Given the description of an element on the screen output the (x, y) to click on. 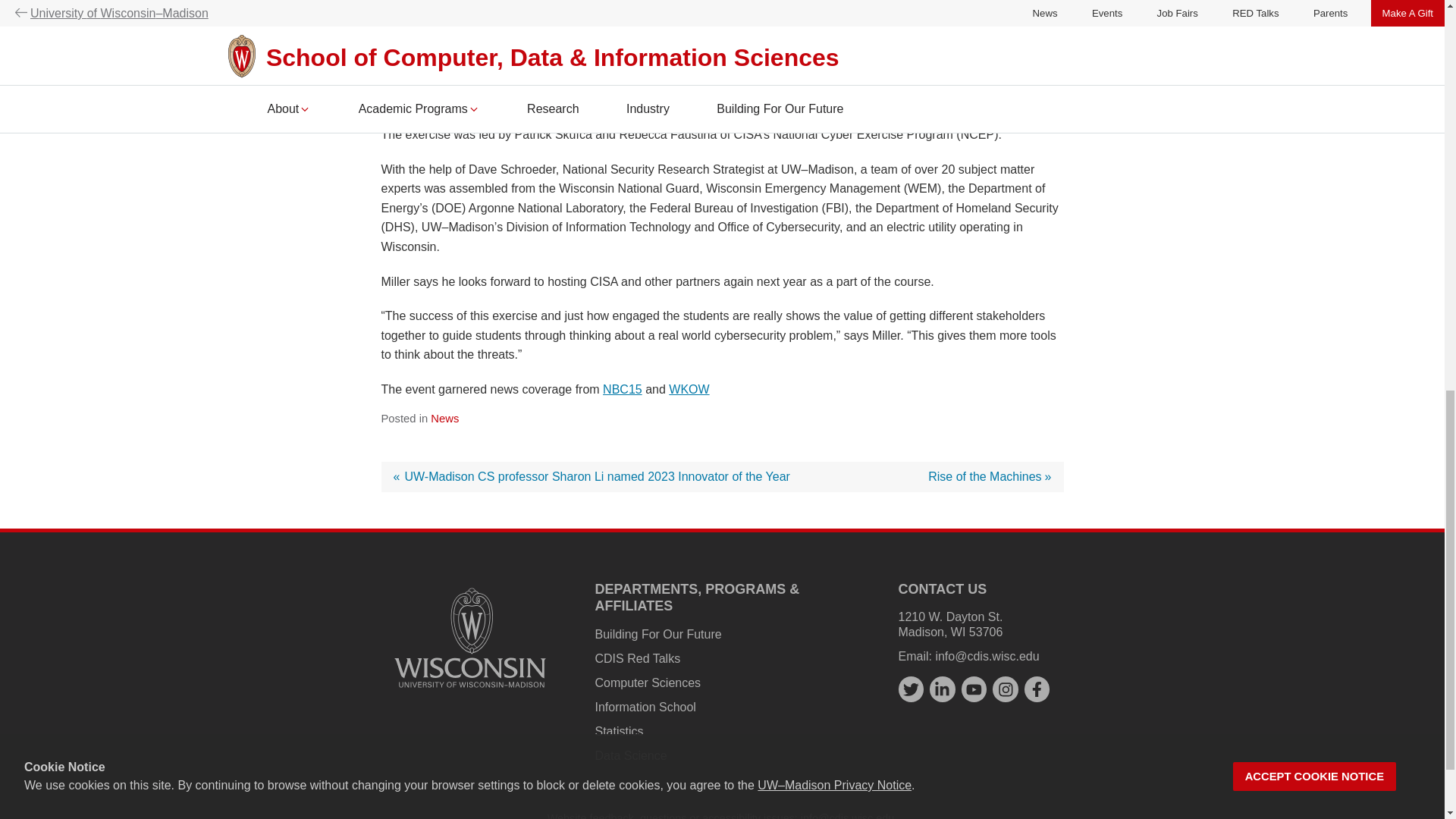
University logo that links to main university website (470, 637)
News (444, 418)
NBC15 (622, 389)
youtube (973, 689)
twitter (910, 689)
WKOW (688, 389)
instagram (1005, 689)
linkedin (989, 476)
